Given the description of an element on the screen output the (x, y) to click on. 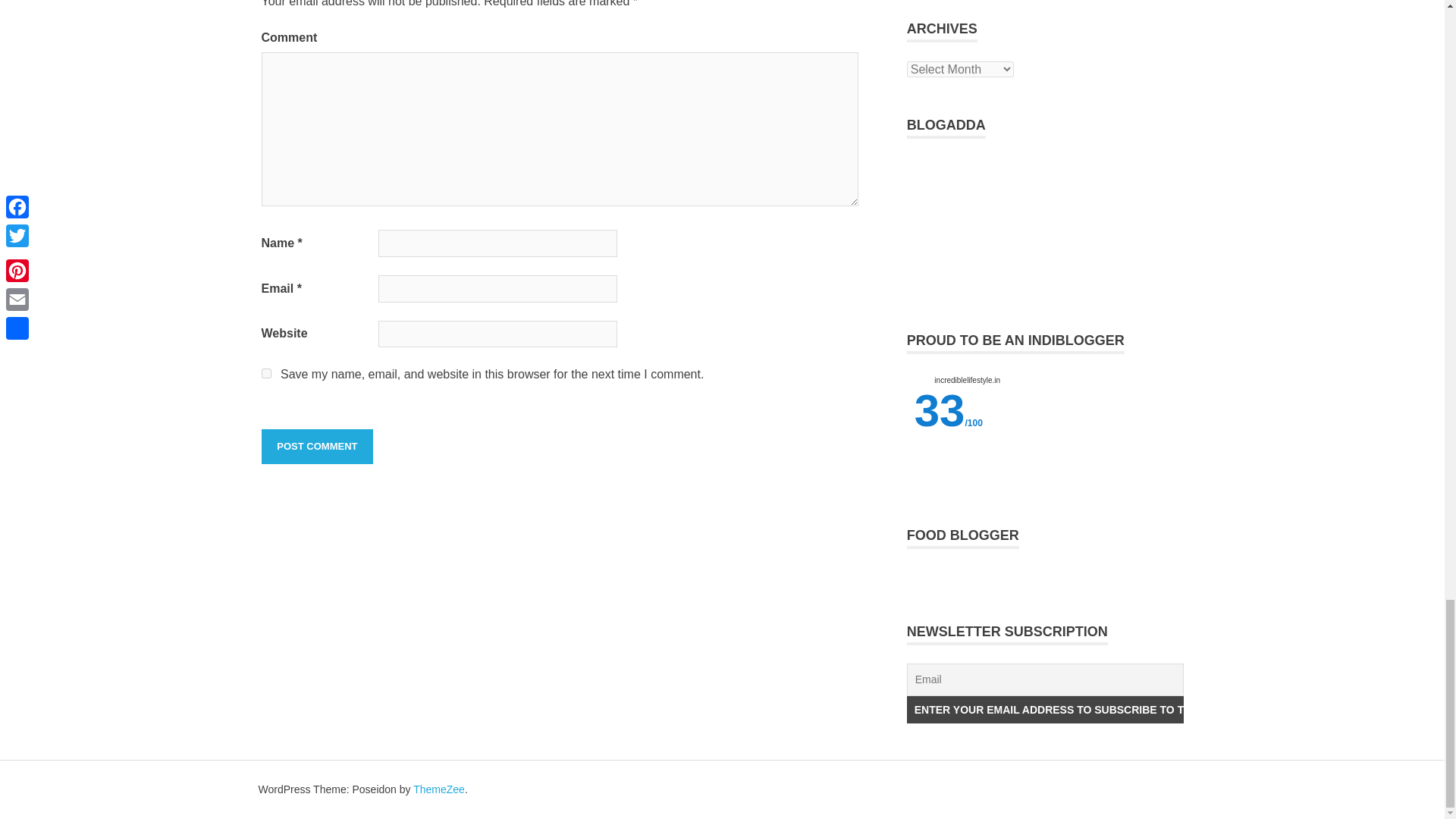
yes (265, 373)
Post Comment (316, 446)
